Given the description of an element on the screen output the (x, y) to click on. 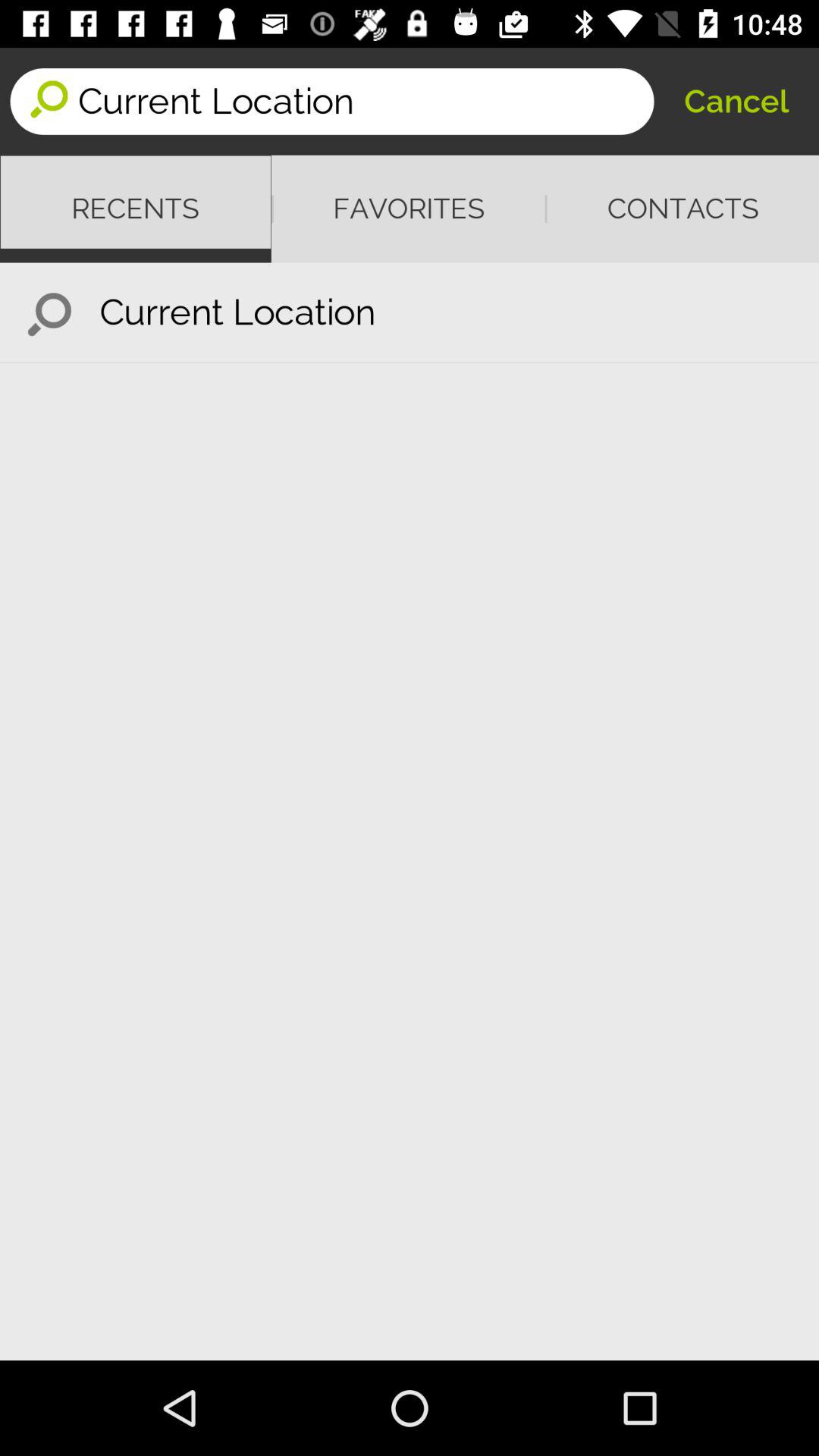
select q (49, 312)
